Given the description of an element on the screen output the (x, y) to click on. 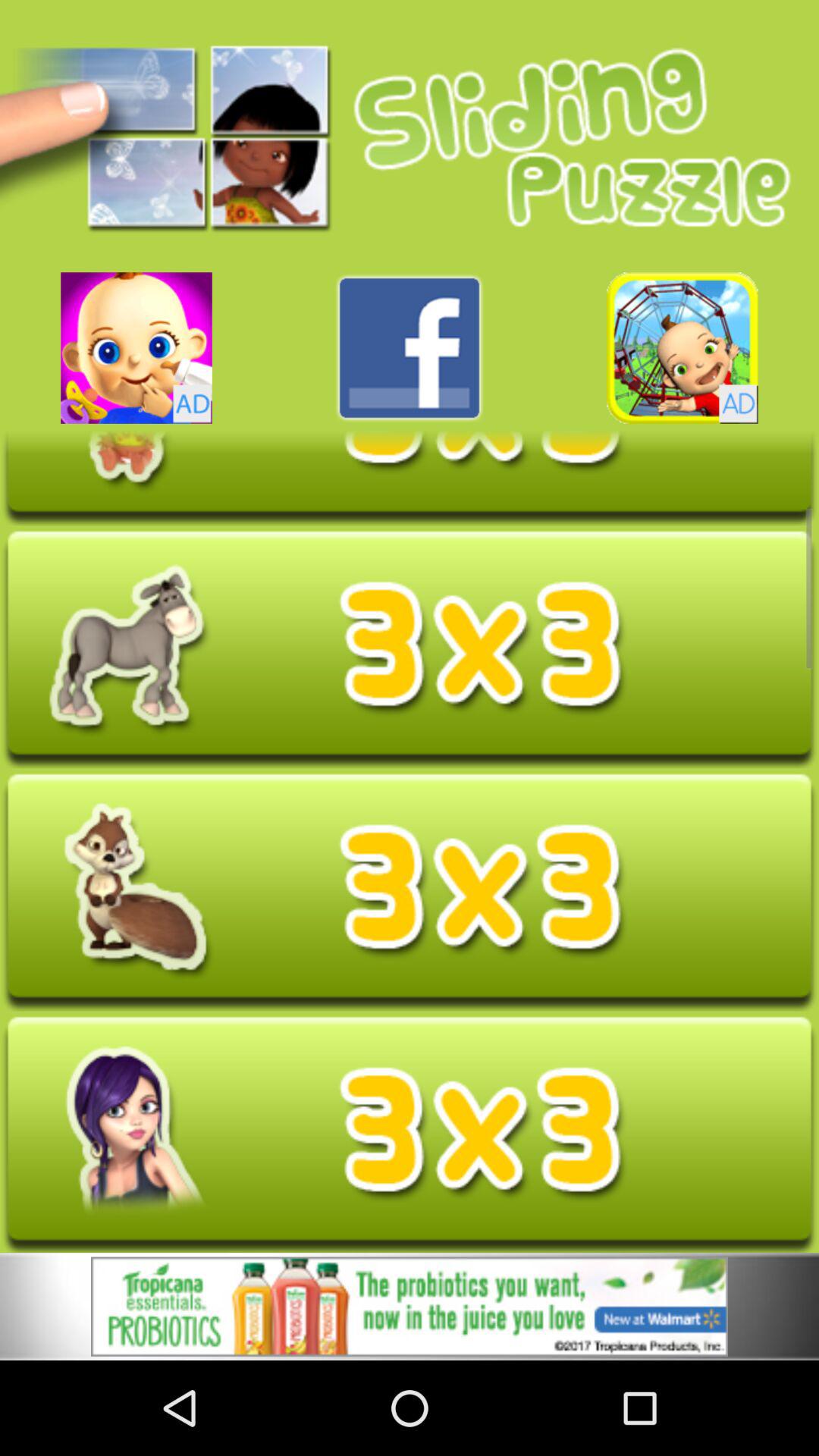
sign in with facebook (409, 347)
